Given the description of an element on the screen output the (x, y) to click on. 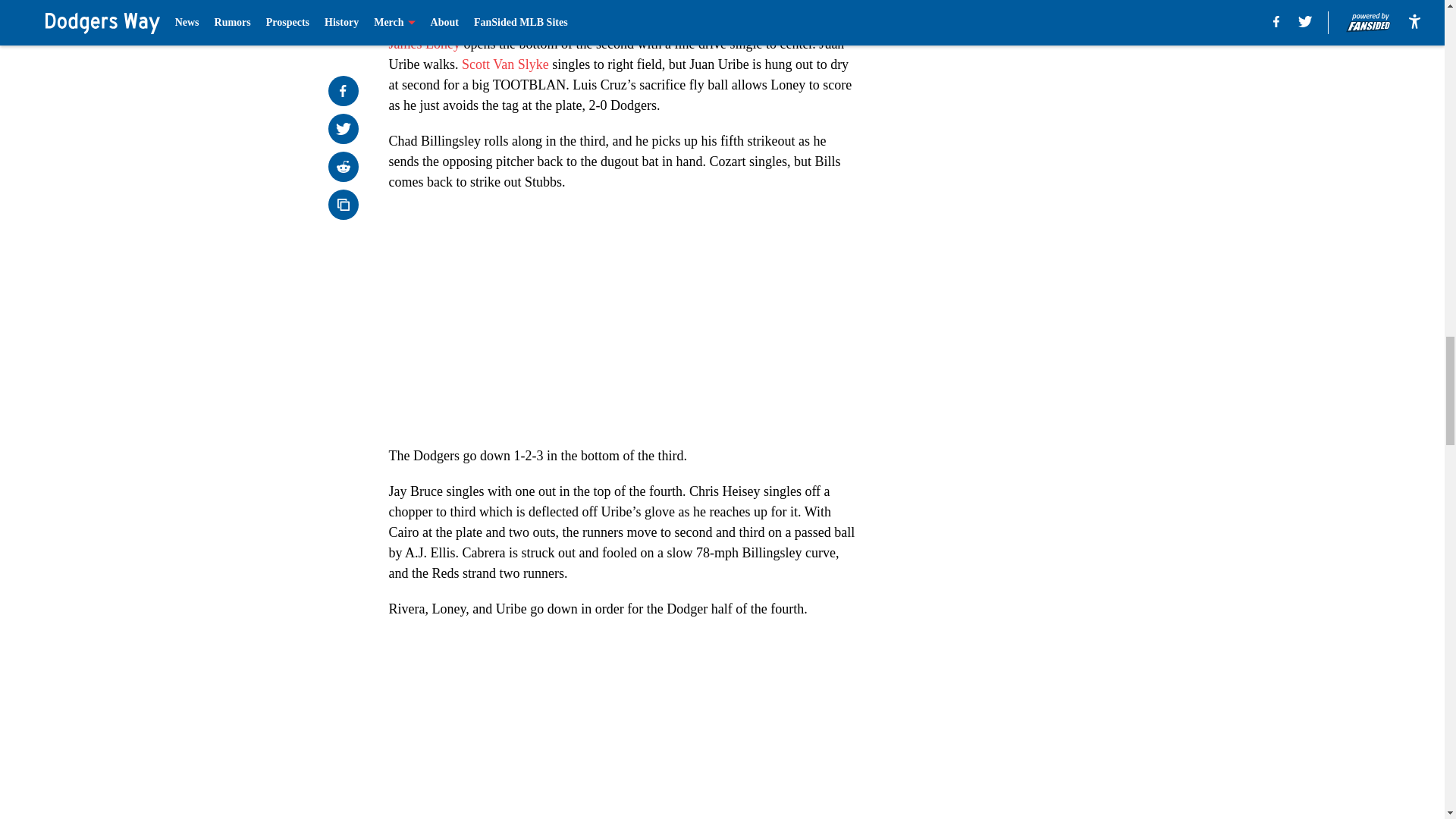
James Loney (424, 43)
Scott Van Slyke (504, 64)
